Given the description of an element on the screen output the (x, y) to click on. 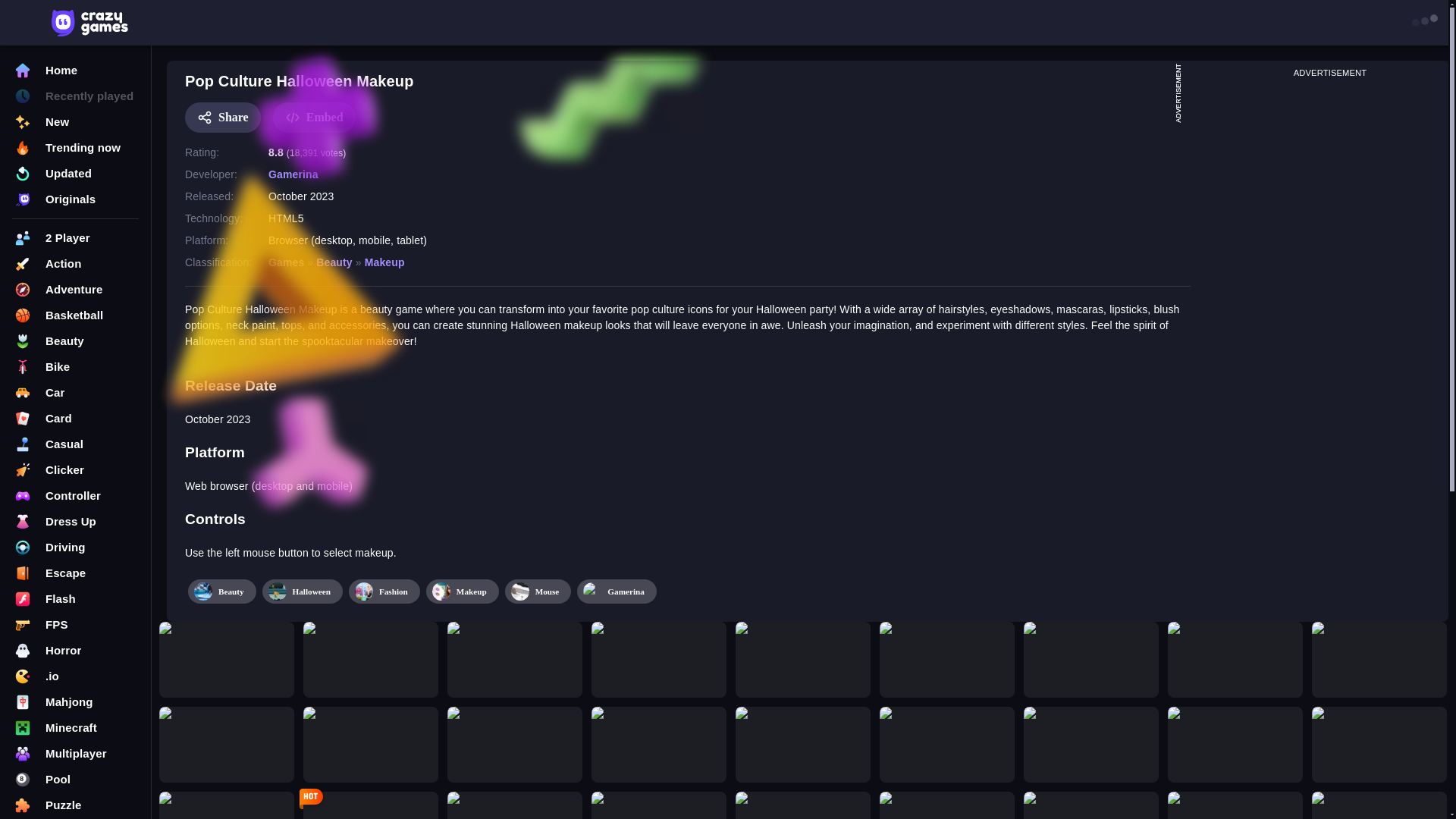
Flash (75, 598)
Escape (75, 573)
Beauty (75, 340)
Originals (75, 199)
Minecraft (75, 727)
Updated (75, 173)
New (75, 121)
Logo CrazyGames.com (90, 22)
Mahjong (75, 701)
